Given the description of an element on the screen output the (x, y) to click on. 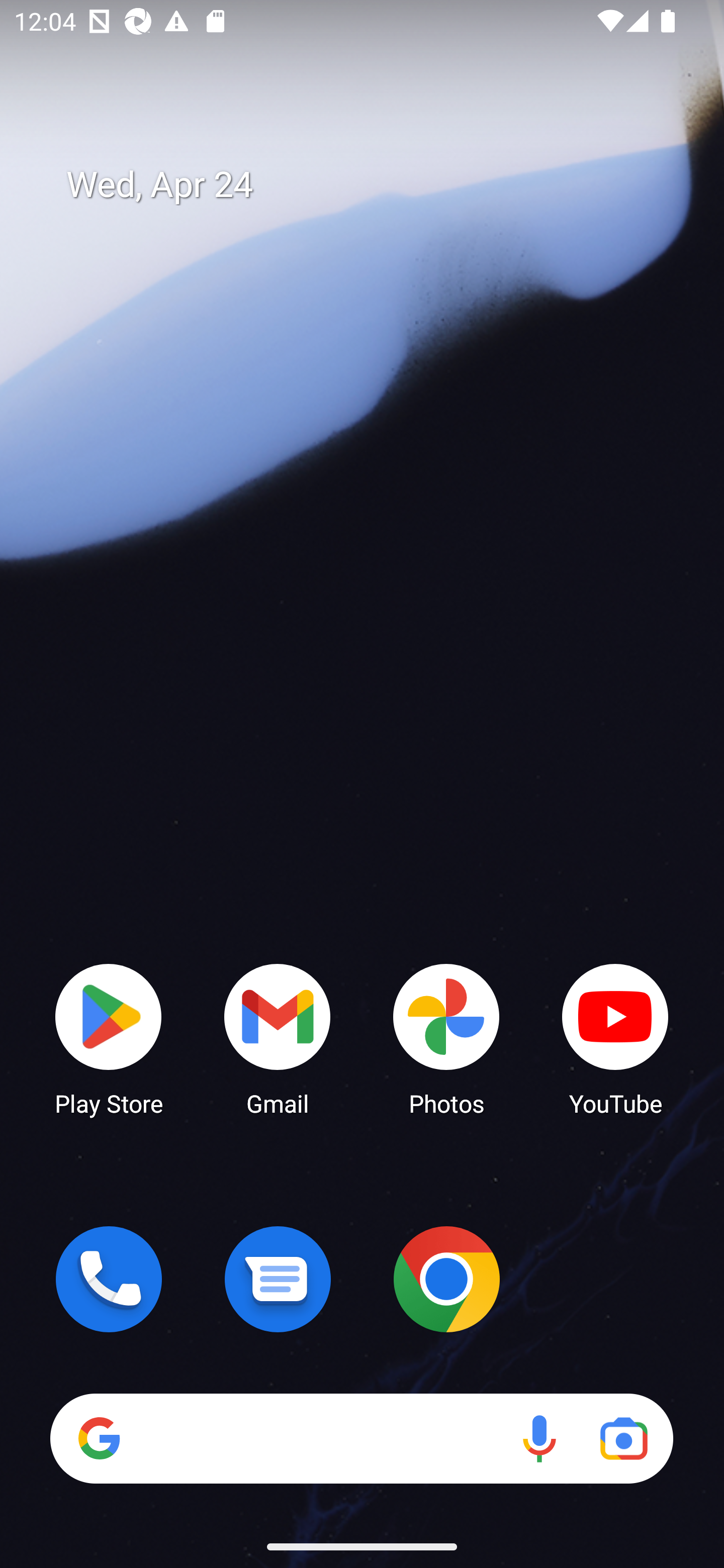
Wed, Apr 24 (375, 184)
Play Store (108, 1038)
Gmail (277, 1038)
Photos (445, 1038)
YouTube (615, 1038)
Phone (108, 1279)
Messages (277, 1279)
Chrome (446, 1279)
Search Voice search Google Lens (361, 1438)
Voice search (539, 1438)
Google Lens (623, 1438)
